Given the description of an element on the screen output the (x, y) to click on. 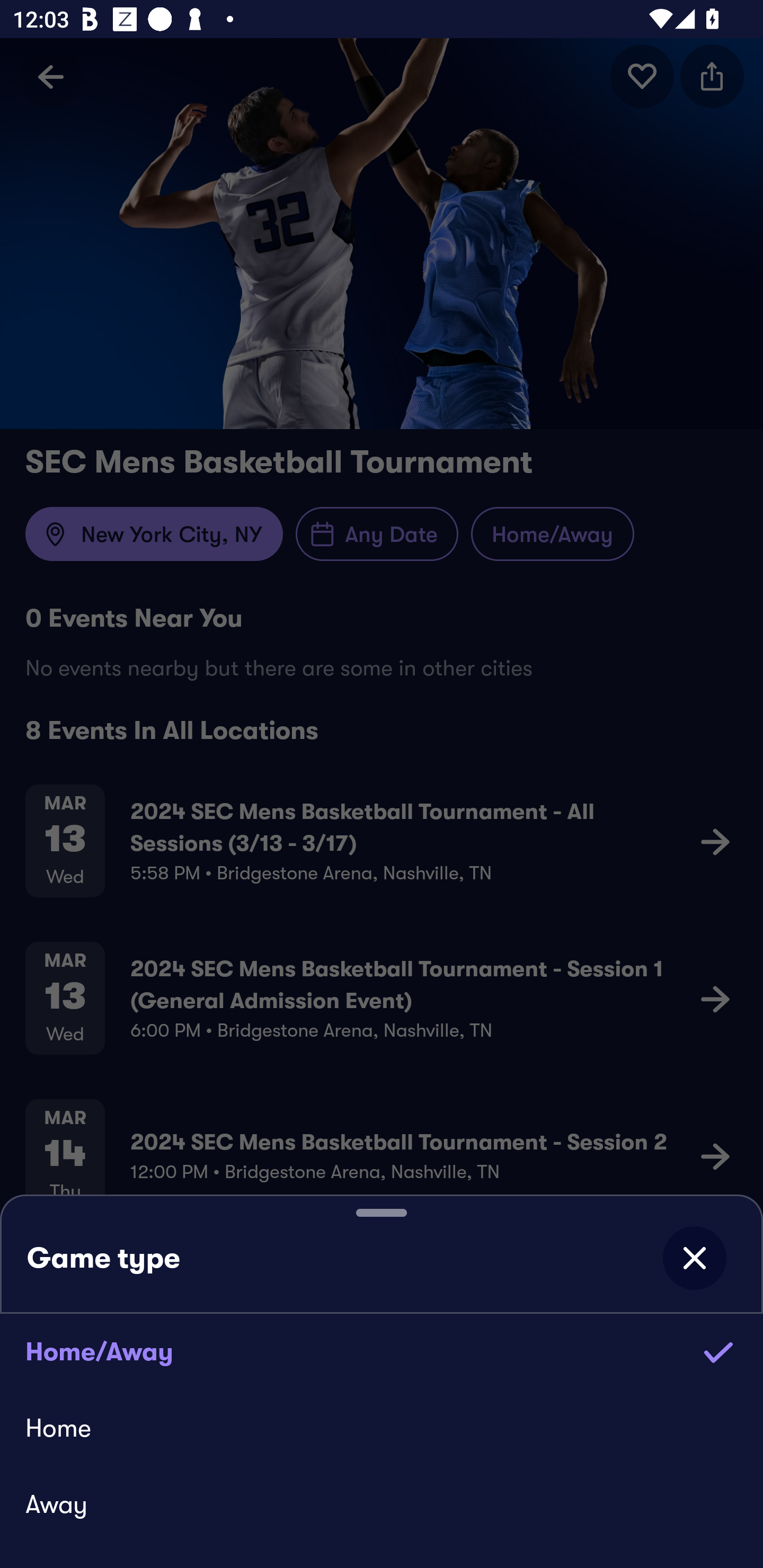
close (694, 1258)
Home/Away (381, 1351)
Home (381, 1427)
Away (381, 1504)
